Given the description of an element on the screen output the (x, y) to click on. 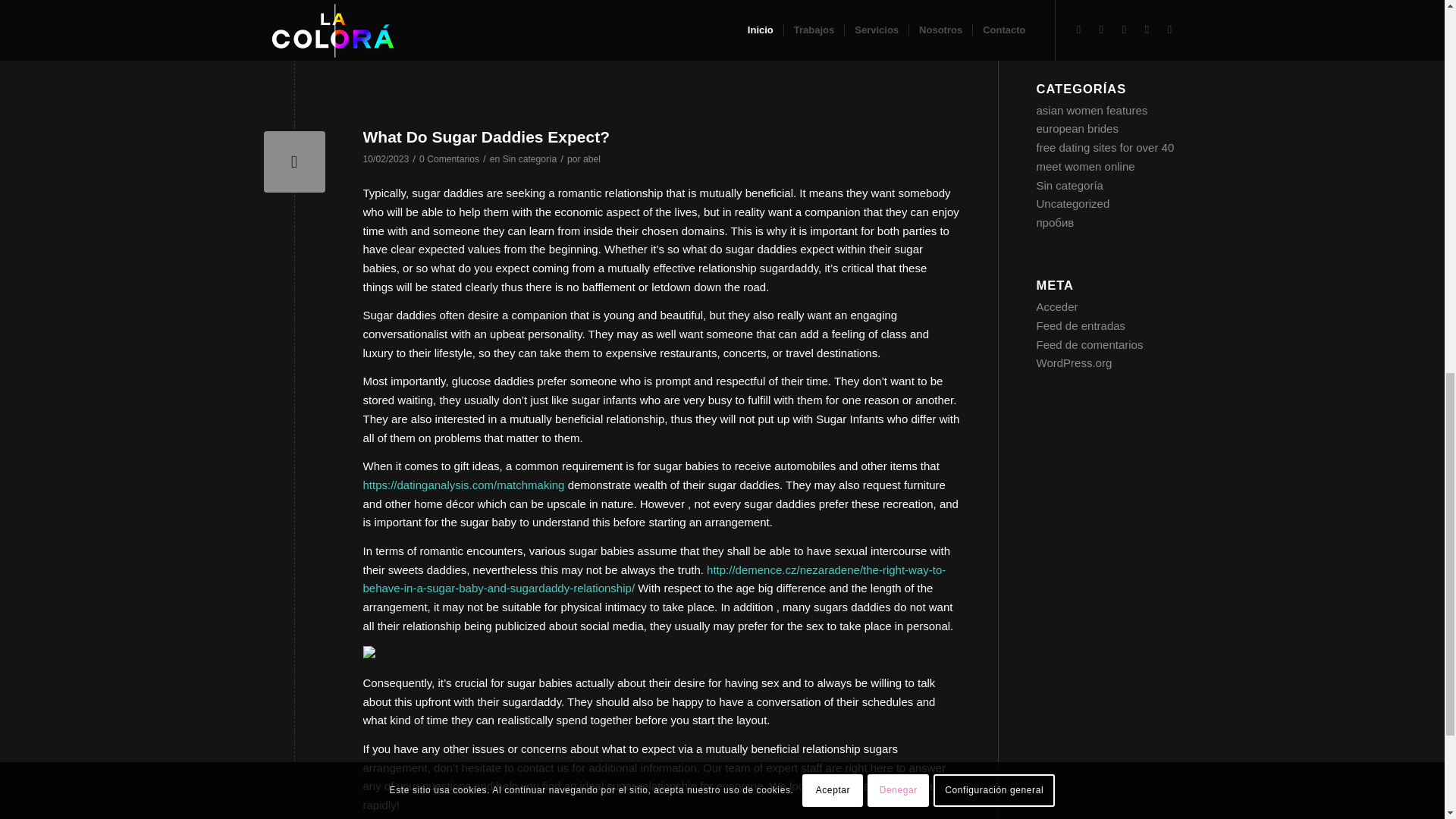
What Do Sugar Daddies Expect? (486, 136)
0 Comentarios (449, 158)
Enlace permanente: What Do Sugar Daddies Expect? (486, 136)
abel (591, 158)
Entradas de abel (591, 158)
What Do Sugar Daddies Expect? (293, 161)
